Given the description of an element on the screen output the (x, y) to click on. 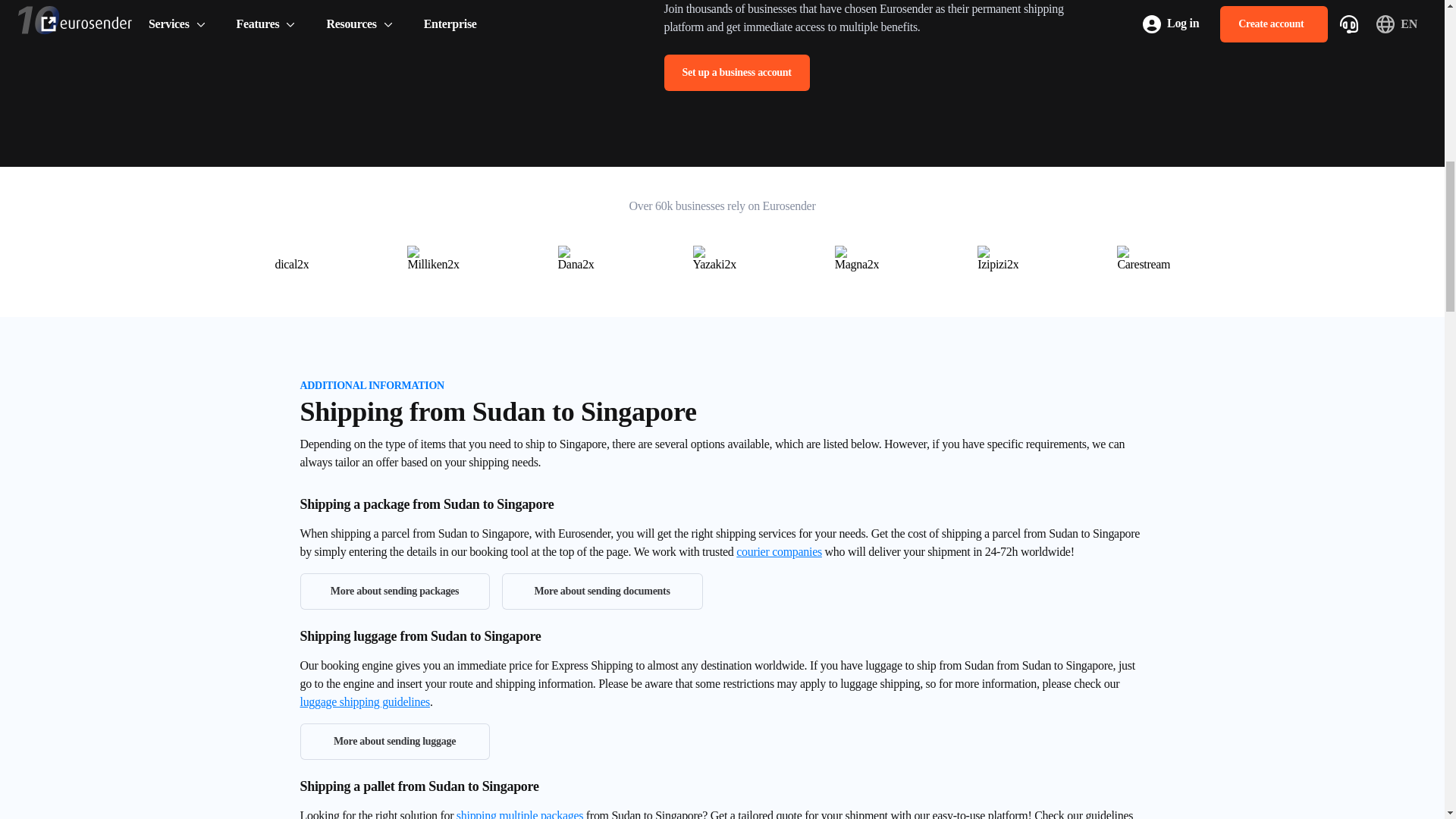
More about sending documents (602, 591)
luggage shipping guidelines (364, 701)
More about sending luggage (394, 741)
More about sending packages (394, 591)
courier companies (779, 551)
shipping multiple packages (520, 814)
Set up a business account (736, 72)
